Given the description of an element on the screen output the (x, y) to click on. 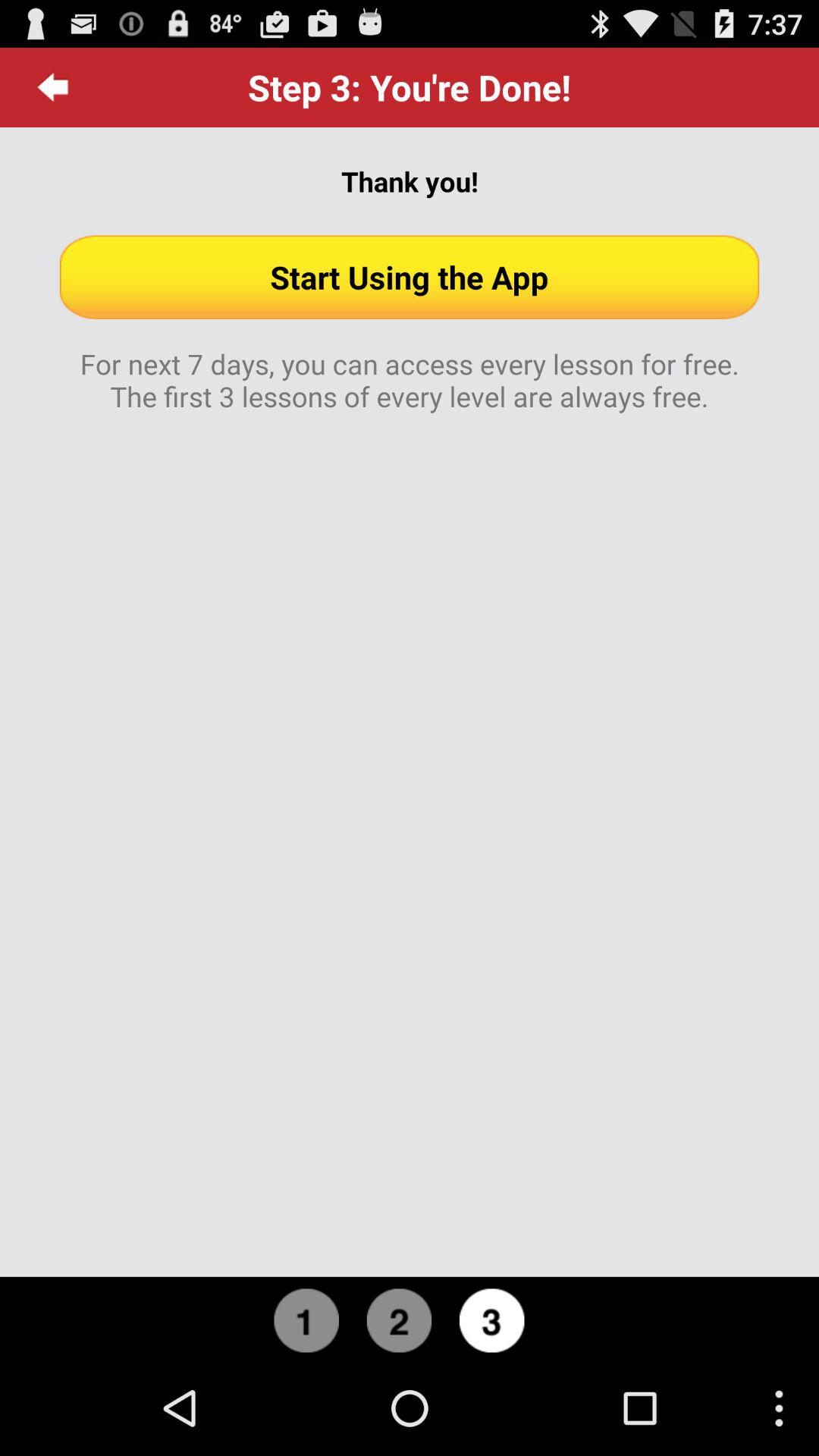
select the item to the left of the step 3 you icon (53, 87)
